Given the description of an element on the screen output the (x, y) to click on. 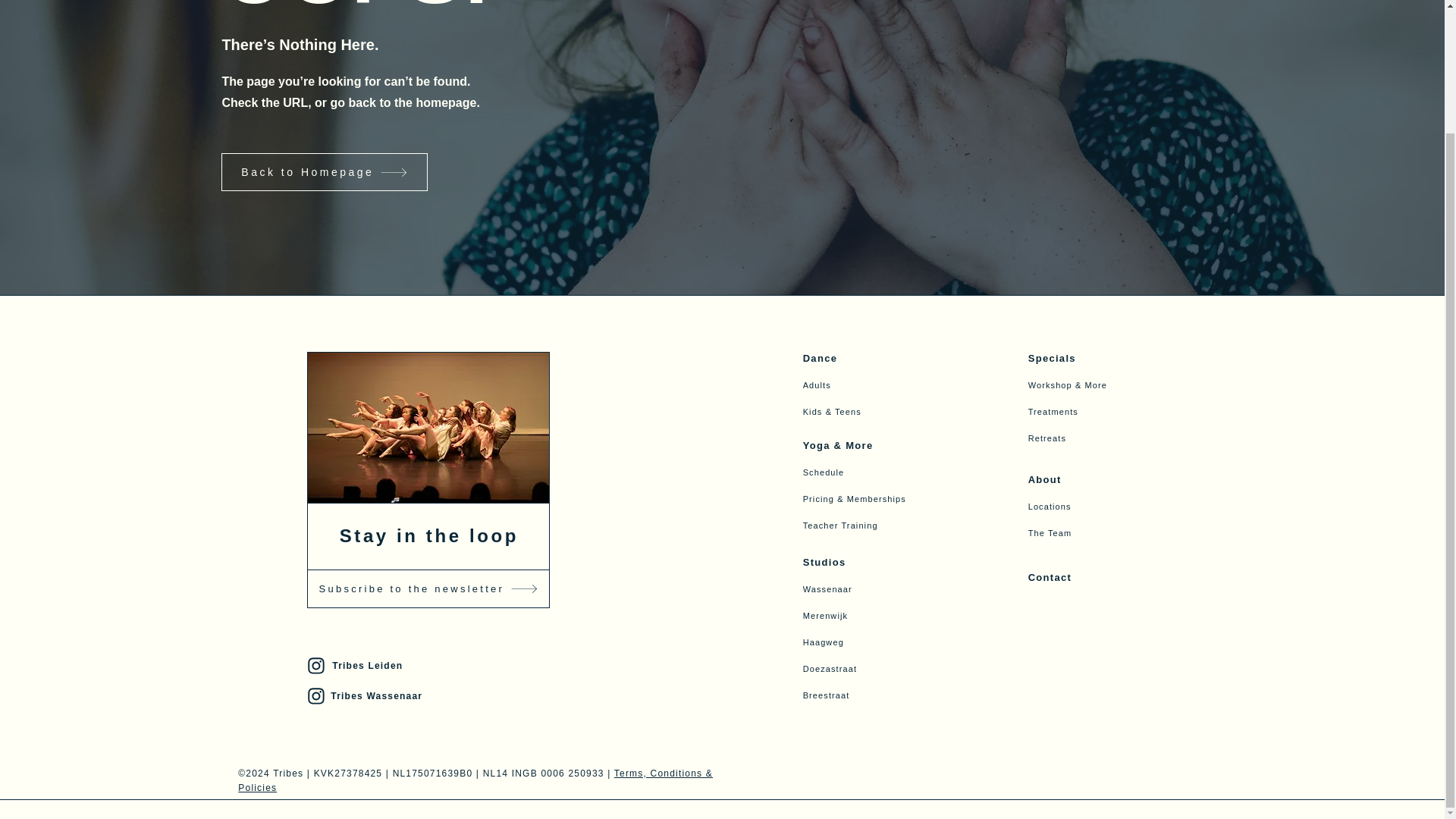
Back to Homepage (324, 171)
Merenwijk (885, 614)
Subscribe to the newsletter (428, 588)
Doezastraat (885, 668)
Haagweg (885, 641)
Tribes Leiden (426, 665)
Teacher Training (885, 524)
Wassenaar (885, 588)
Schedule (885, 471)
Tribes Wassenaar (426, 696)
Studios (885, 561)
Adults (885, 384)
Dance (885, 357)
